Given the description of an element on the screen output the (x, y) to click on. 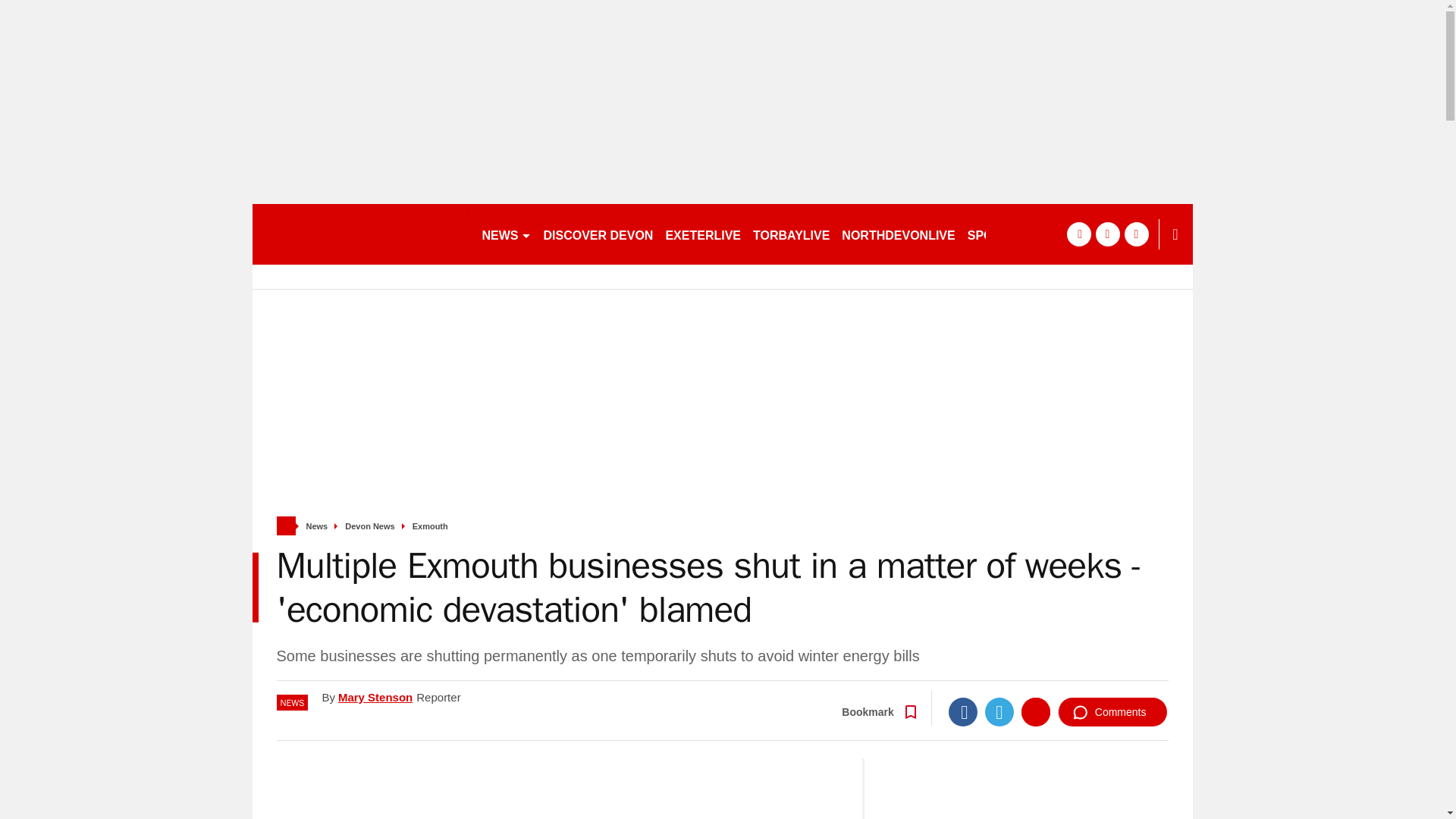
facebook (1077, 233)
Facebook (962, 711)
Comments (1112, 711)
twitter (1106, 233)
devonlive (359, 233)
Twitter (999, 711)
TORBAYLIVE (790, 233)
DISCOVER DEVON (598, 233)
NEWS (506, 233)
SPORT (993, 233)
instagram (1136, 233)
EXETERLIVE (702, 233)
NORTHDEVONLIVE (897, 233)
